Given the description of an element on the screen output the (x, y) to click on. 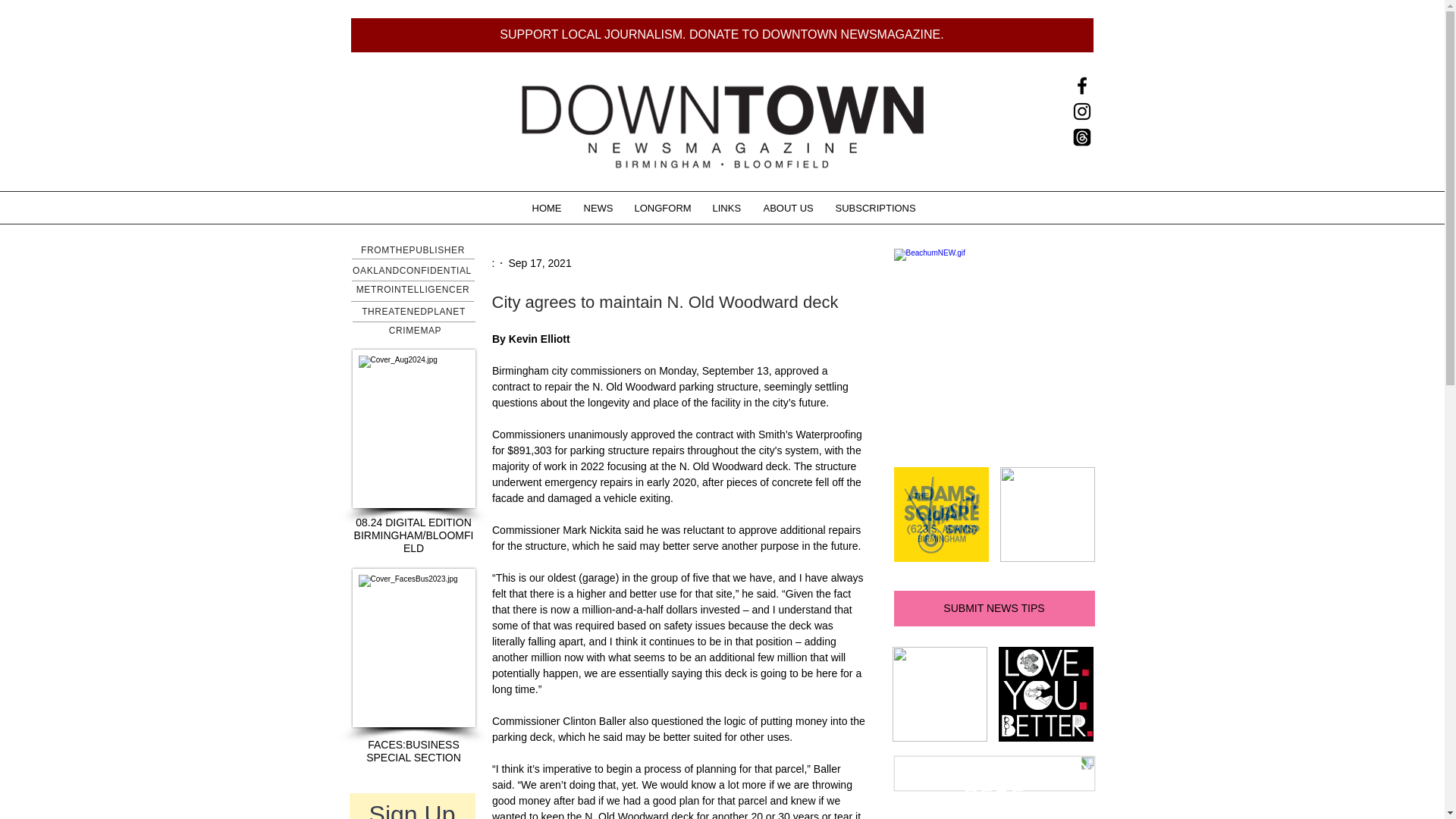
SUPPORT LOCAL JOURNALISM. DONATE TO DOWNTOWN NEWSMAGAZINE. (721, 35)
: (493, 262)
Sep 17, 2021 (539, 262)
HOME (545, 208)
LONGFORM (662, 208)
SUBSCRIPTIONS (873, 208)
